Given the description of an element on the screen output the (x, y) to click on. 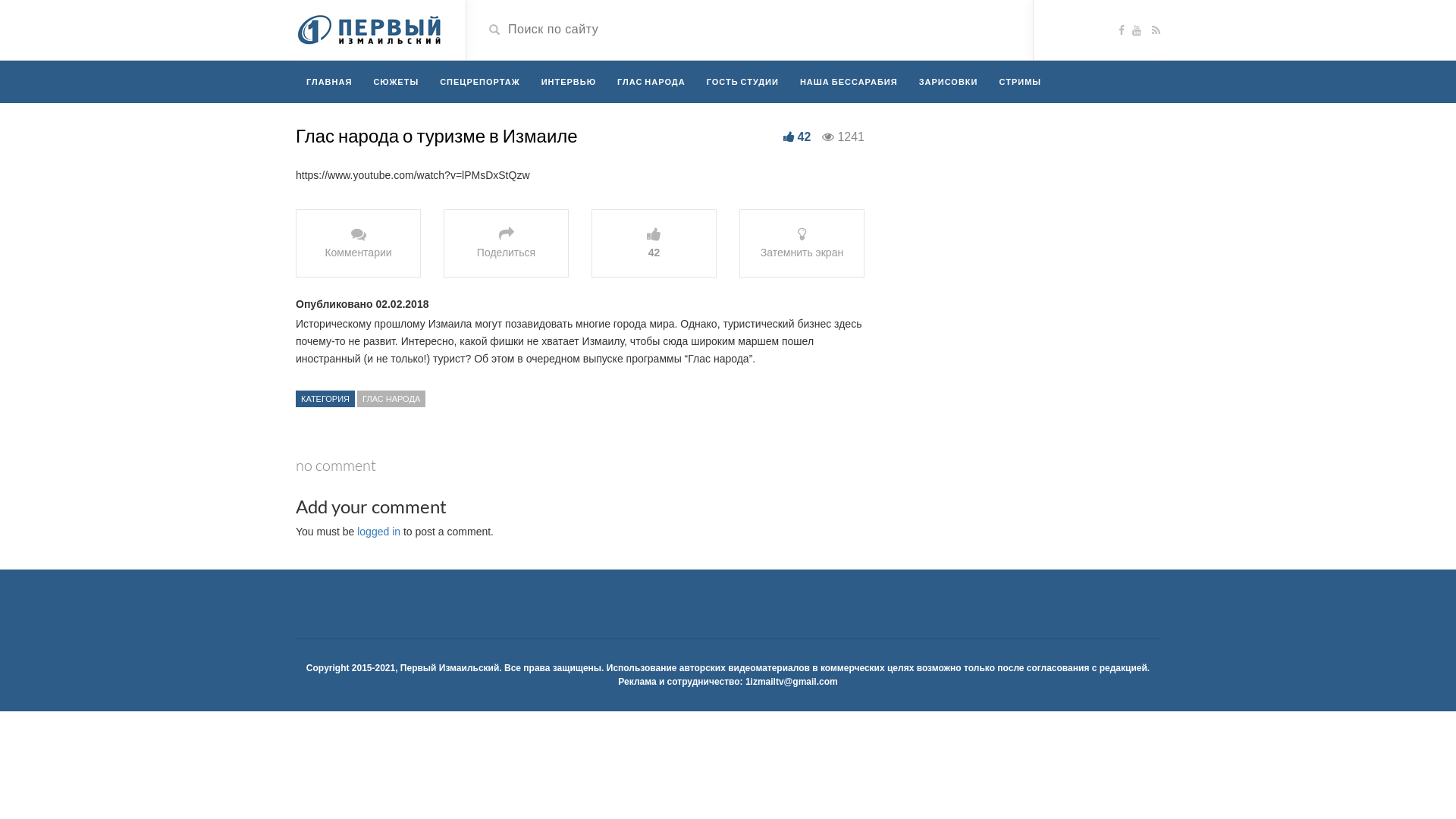
logged in Element type: text (378, 531)
42 Element type: text (653, 243)
